Given the description of an element on the screen output the (x, y) to click on. 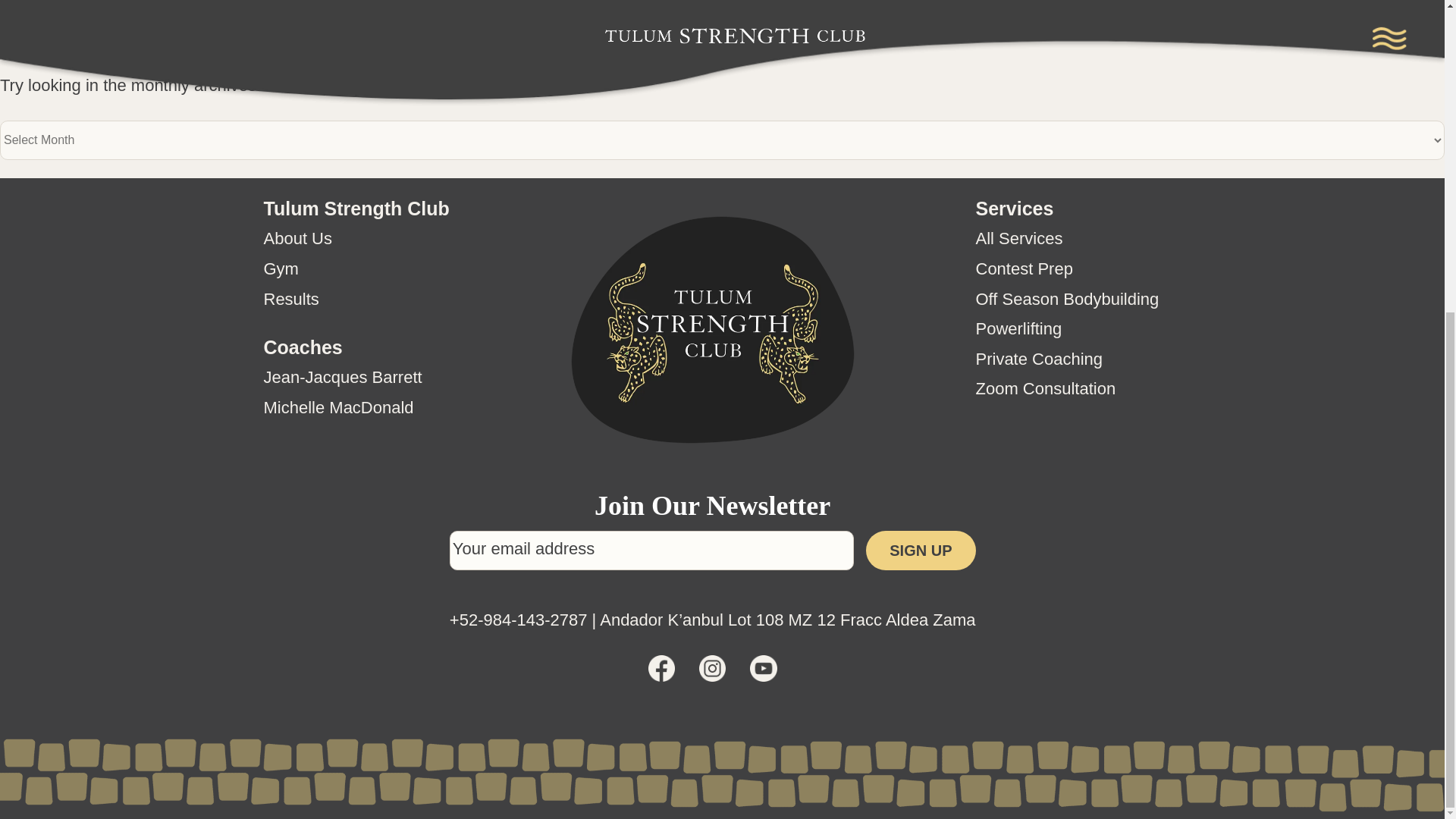
Powerlifting (1018, 328)
Sign up (920, 550)
Zoom Consultation (1045, 388)
Michelle MacDonald (338, 407)
Results (290, 298)
About Us (298, 238)
Sign up (920, 550)
Private Coaching (1038, 358)
Off Season Bodybuilding (1066, 298)
Contest Prep (1023, 268)
